Given the description of an element on the screen output the (x, y) to click on. 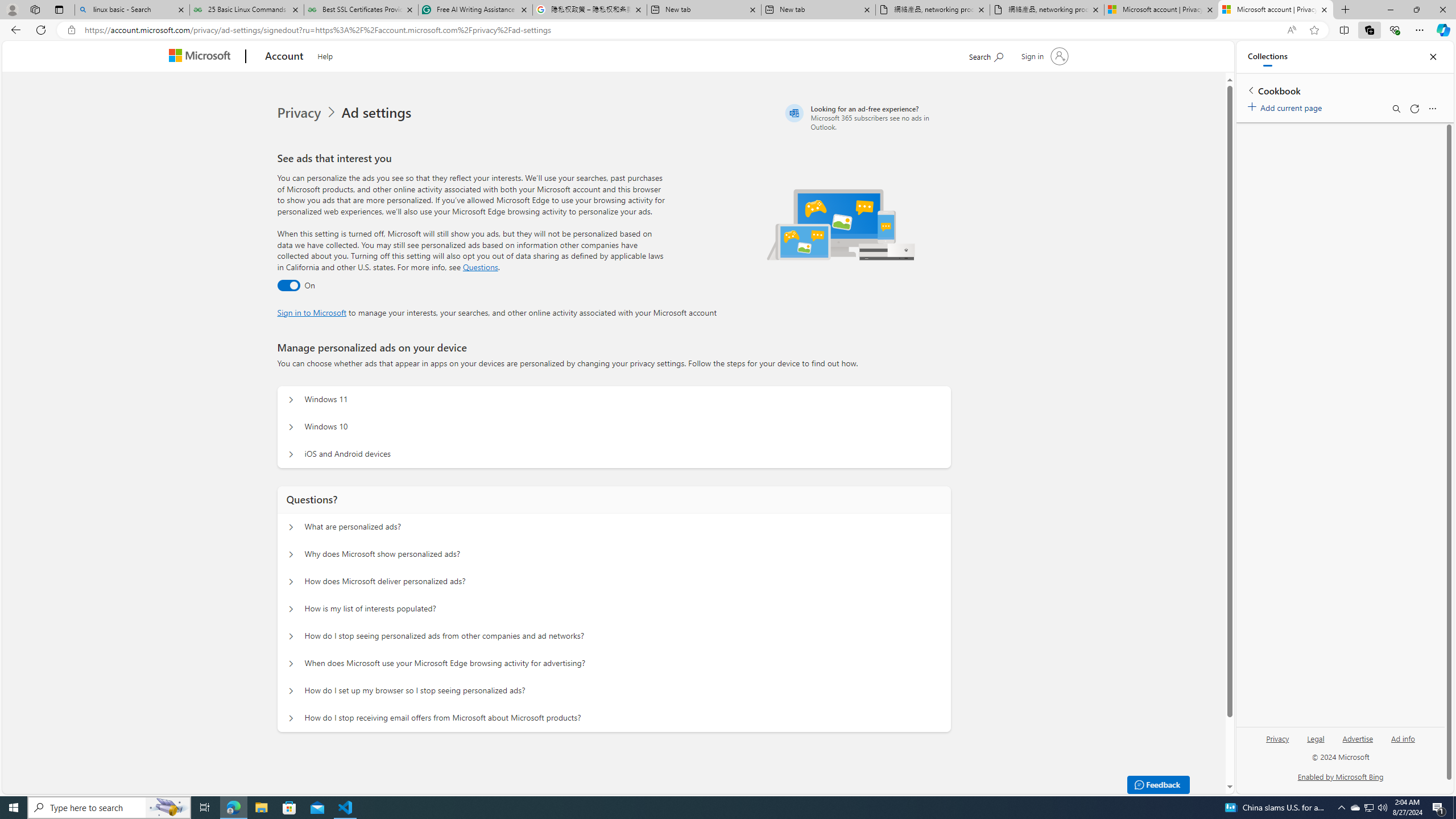
App bar (728, 29)
Questions? What are personalized ads? (290, 526)
Questions? How does Microsoft deliver personalized ads? (290, 581)
Advertise (1358, 742)
Microsoft account | Privacy (1276, 9)
Ad settings (379, 112)
Manage personalized ads on your device Windows 11 (290, 400)
Legal (1315, 738)
Go to Questions section (480, 266)
